Given the description of an element on the screen output the (x, y) to click on. 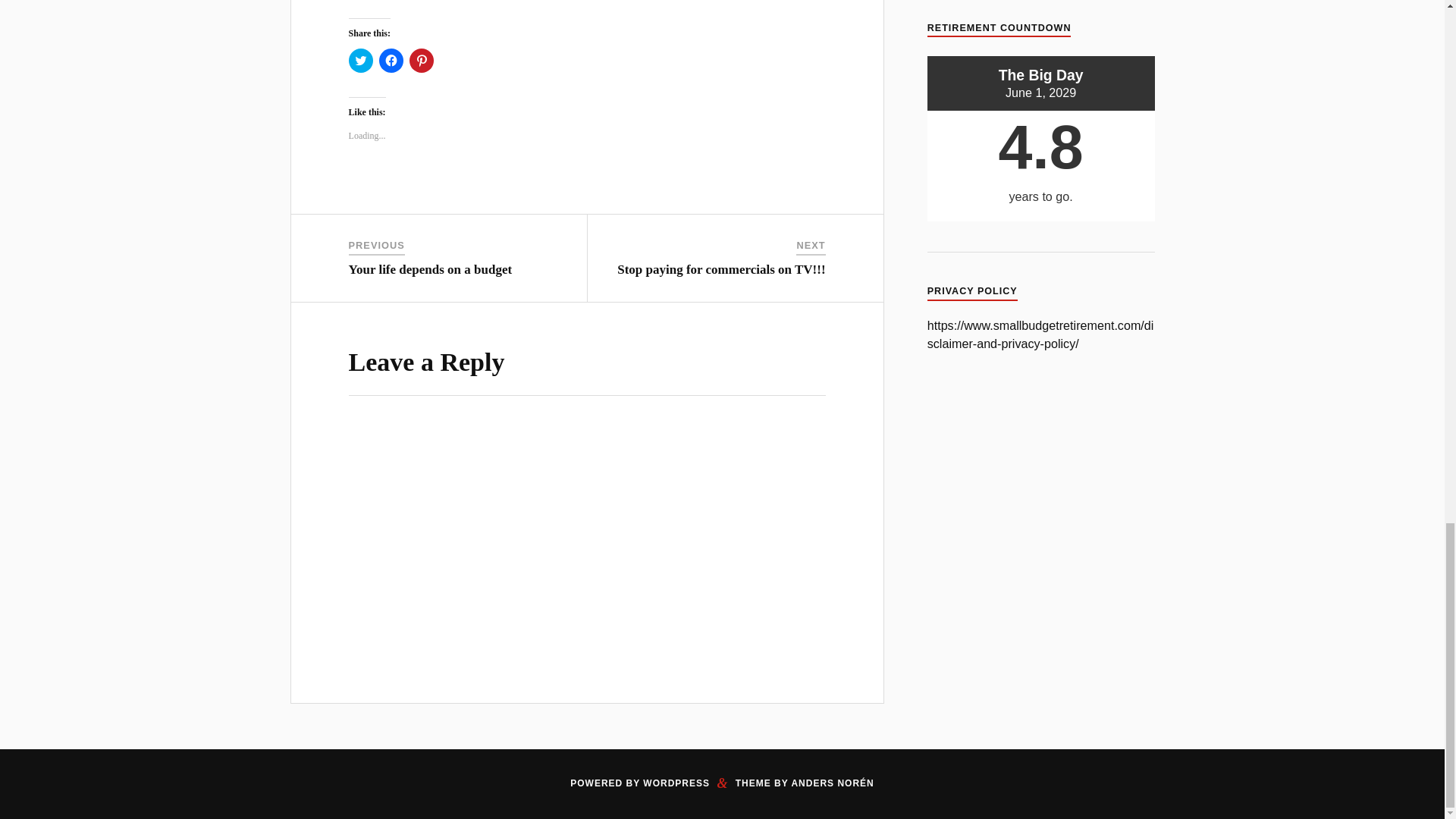
Click to share on Twitter (360, 60)
Stop paying for commercials on TV!!! (721, 269)
Click to share on Pinterest (421, 60)
Click to share on Facebook (390, 60)
Your life depends on a budget (430, 269)
Comment Form (587, 533)
